Given the description of an element on the screen output the (x, y) to click on. 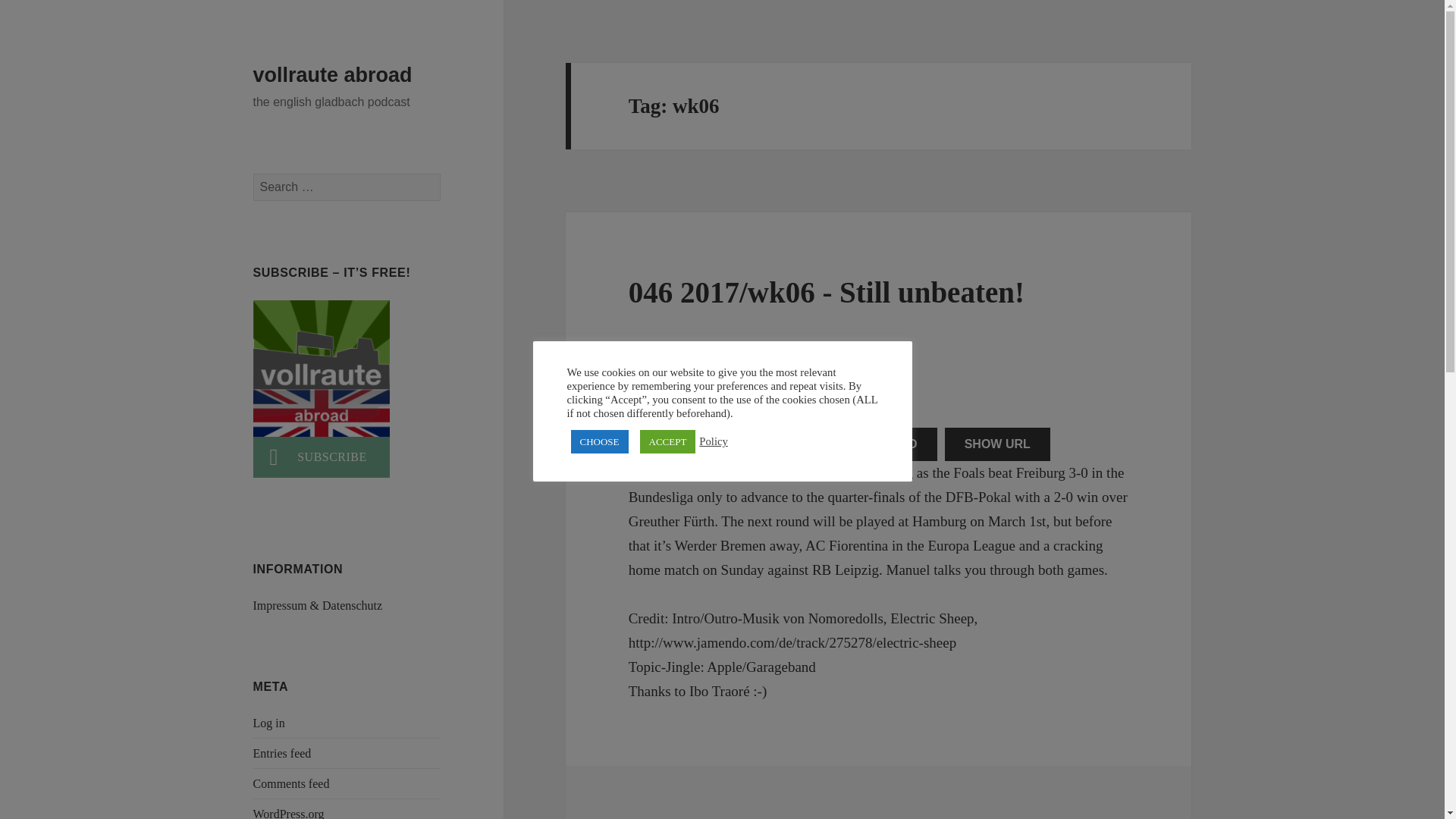
Entries feed (282, 753)
CHOOSE (598, 440)
Log in (269, 722)
vollraute abroad (332, 74)
DOWNLOAD (881, 444)
ACCEPT (667, 440)
SHOW URL (996, 444)
